Given the description of an element on the screen output the (x, y) to click on. 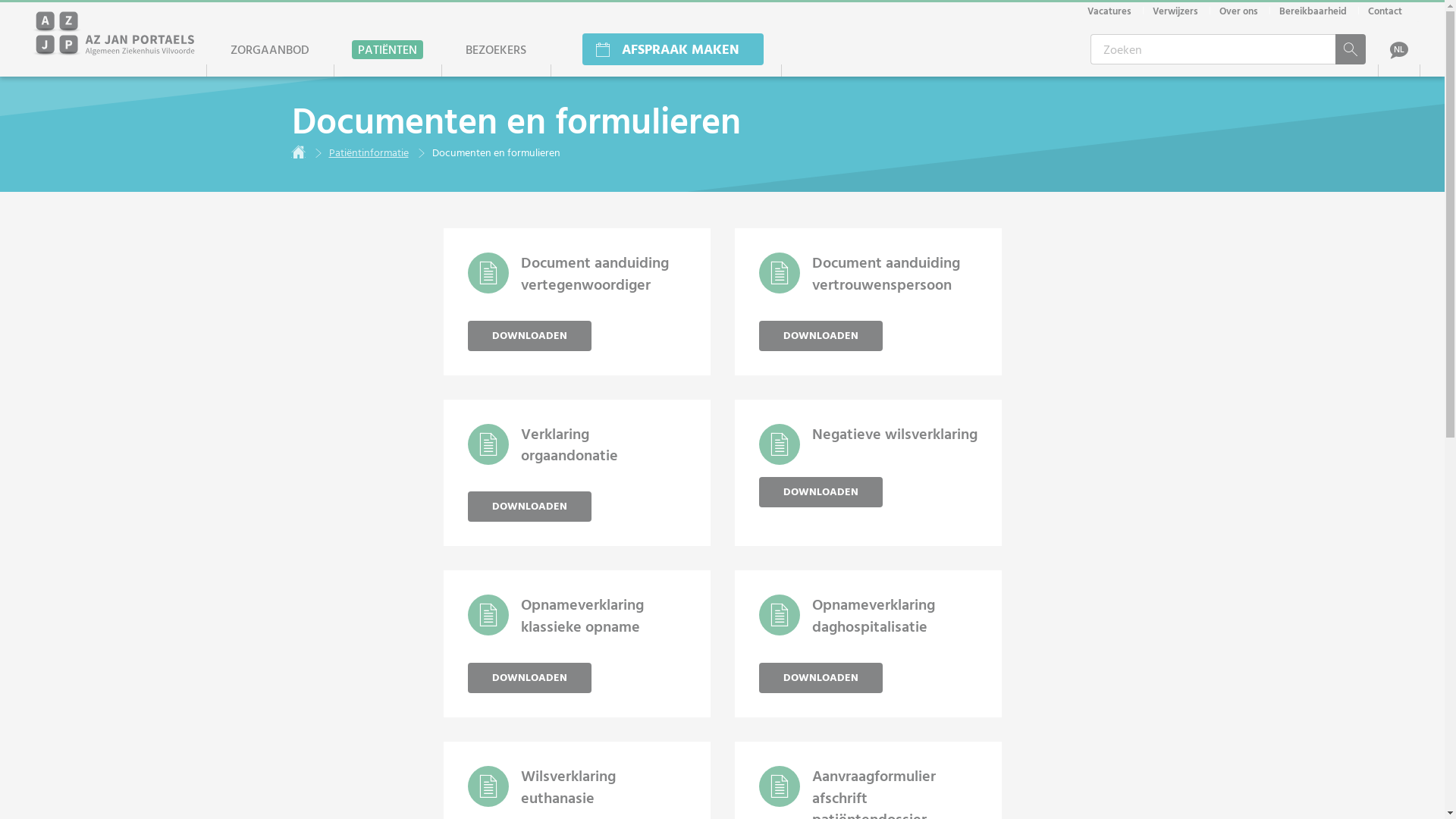
DOWNLOADEN Element type: text (528, 506)
Verwijzers Element type: text (1175, 10)
DOWNLOADEN Element type: text (819, 491)
Opnameverklaring daghospitalisatie Element type: text (872, 614)
Document aanduiding vertegenwoordiger
DOWNLOADEN Element type: text (575, 301)
Document aanduiding vertrouwenspersoon Element type: text (885, 272)
Zoeken Element type: text (1350, 49)
Verklaring orgaandonatie
DOWNLOADEN Element type: text (575, 472)
Opnameverklaring klassieke opname
DOWNLOADEN Element type: text (575, 643)
Vacatures Element type: text (1109, 10)
Document aanduiding vertrouwenspersoon
DOWNLOADEN Element type: text (867, 301)
Wilsverklaring euthanasie Element type: text (567, 785)
Negatieve wilsverklaring Element type: text (893, 432)
DOWNLOADEN Element type: text (528, 335)
NL
LANGUAGE MENU Element type: text (1398, 48)
Home Element type: text (297, 152)
Bereikbaarheid Element type: text (1312, 10)
DOWNLOADEN Element type: text (819, 335)
DOWNLOADEN Element type: text (528, 677)
Verklaring orgaandonatie Element type: text (568, 443)
AFSPRAAK MAKEN Element type: text (665, 48)
Document aanduiding vertegenwoordiger Element type: text (594, 272)
ZORGAANBOD Element type: text (269, 48)
BEZOEKERS Element type: text (495, 48)
Home Element type: hover (115, 32)
Negatieve wilsverklaring
DOWNLOADEN Element type: text (867, 472)
Contact Element type: text (1385, 10)
Over ons Element type: text (1238, 10)
Opnameverklaring daghospitalisatie
DOWNLOADEN Element type: text (867, 643)
DOWNLOADEN Element type: text (819, 677)
Opnameverklaring klassieke opname Element type: text (581, 614)
